Given the description of an element on the screen output the (x, y) to click on. 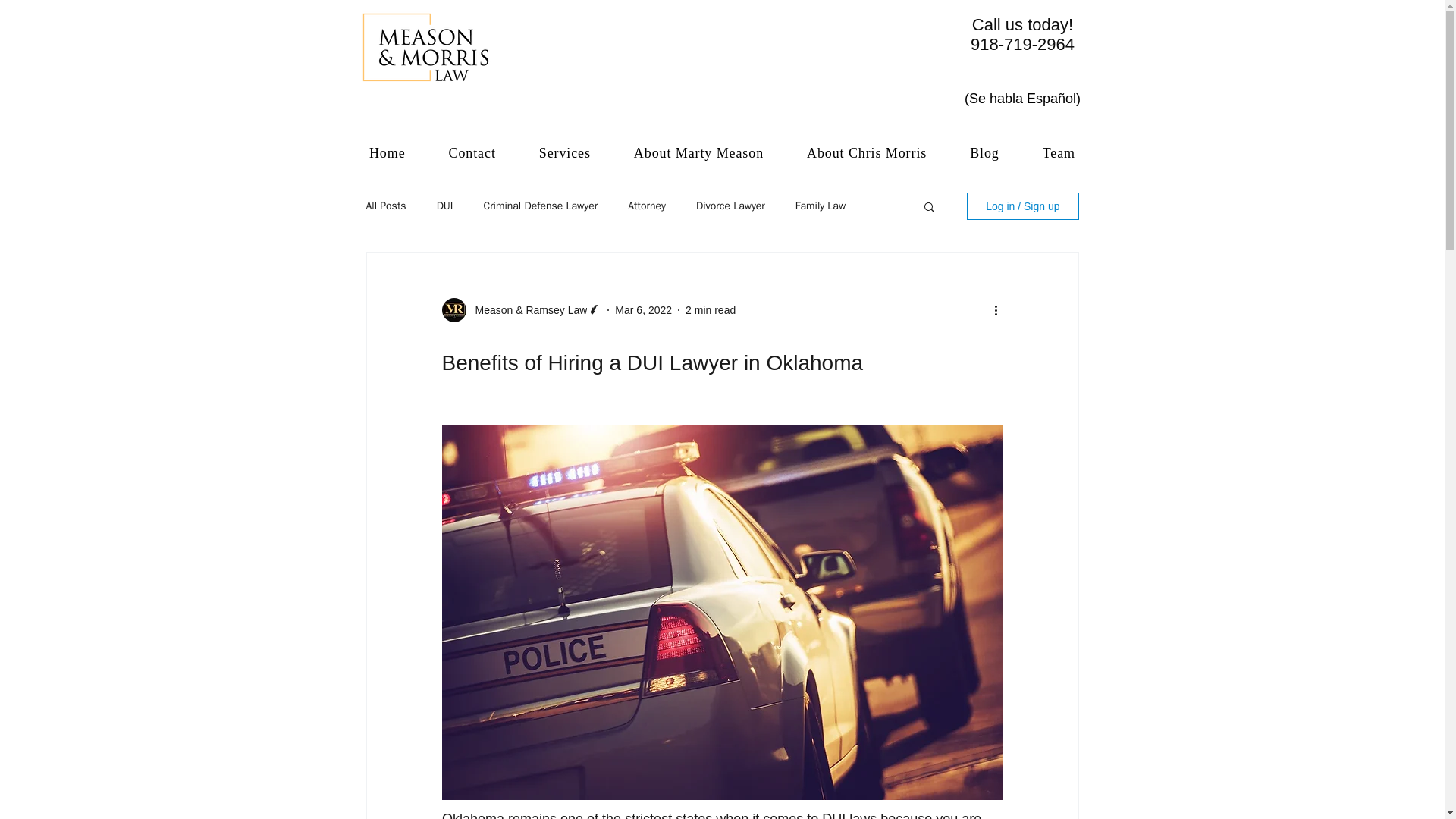
DUI (444, 205)
Blog (1022, 34)
About Marty Meason (984, 153)
Home (697, 153)
Divorce Lawyer (386, 153)
Criminal Defense Lawyer (730, 205)
Family Law (539, 205)
Team (819, 205)
Mar 6, 2022 (1058, 153)
